Given the description of an element on the screen output the (x, y) to click on. 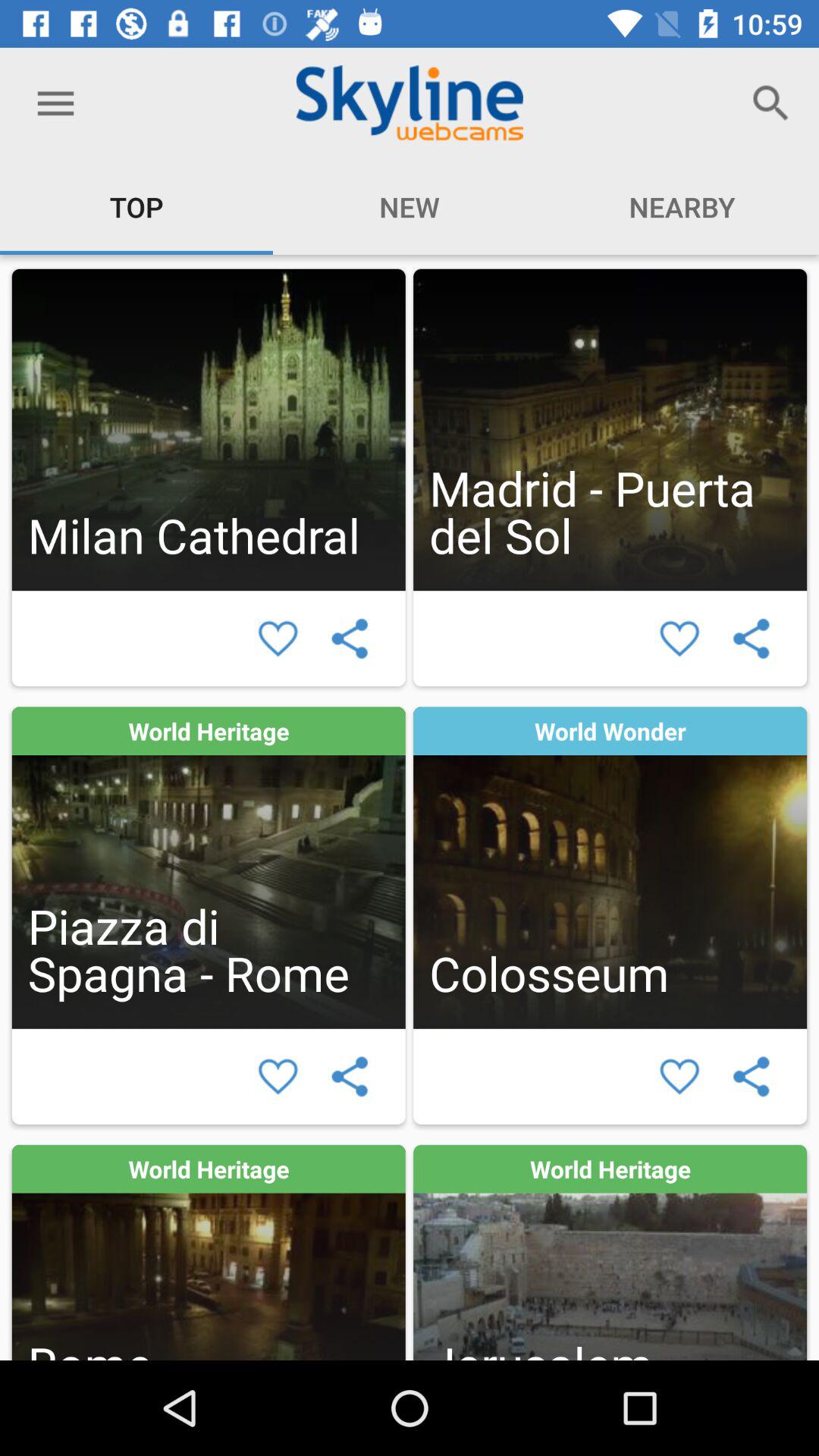
share images (349, 638)
